Given the description of an element on the screen output the (x, y) to click on. 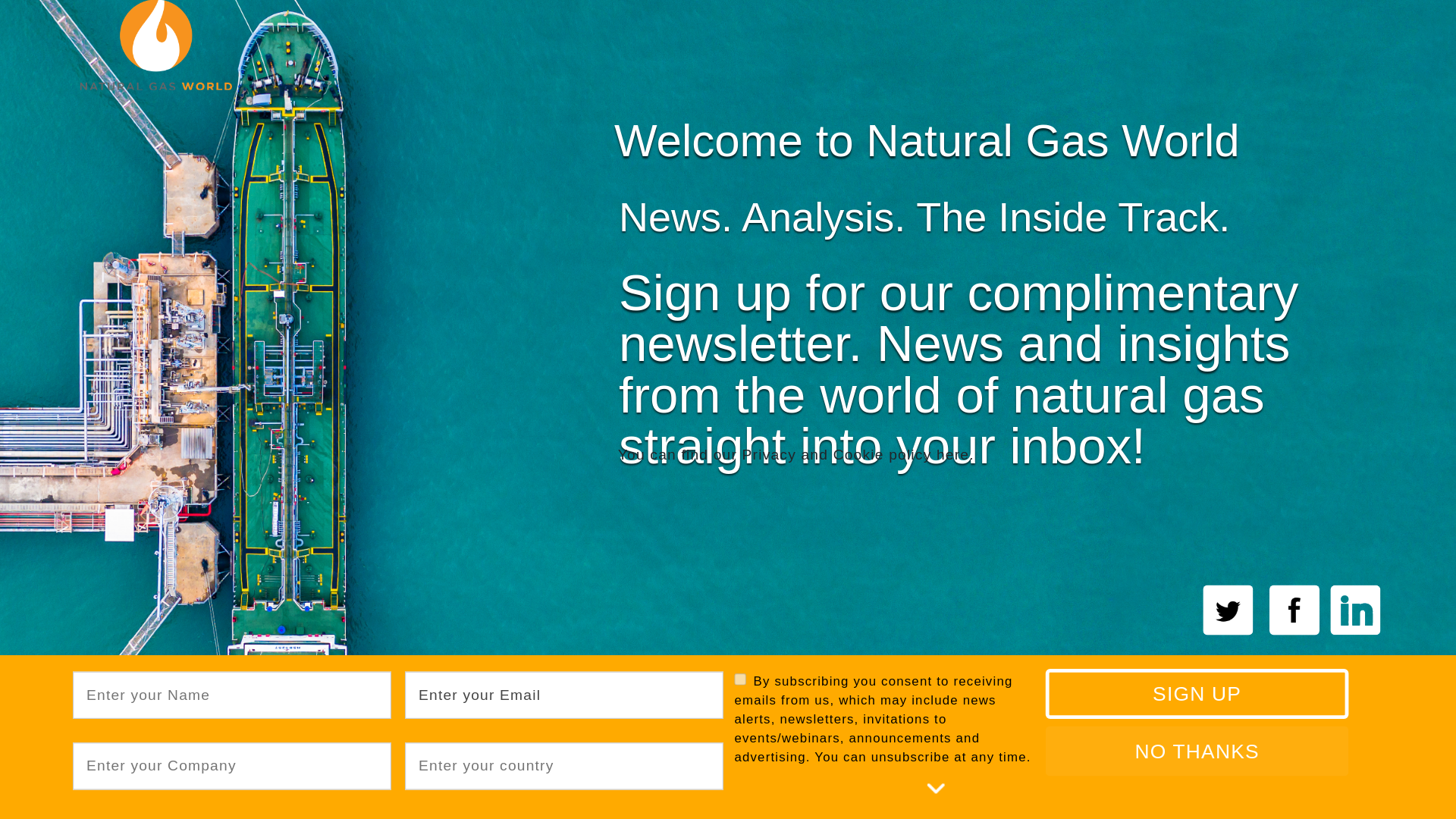
NO THANKS (1171, 747)
on (738, 678)
here (949, 452)
SIGN UP (1172, 690)
